Given the description of an element on the screen output the (x, y) to click on. 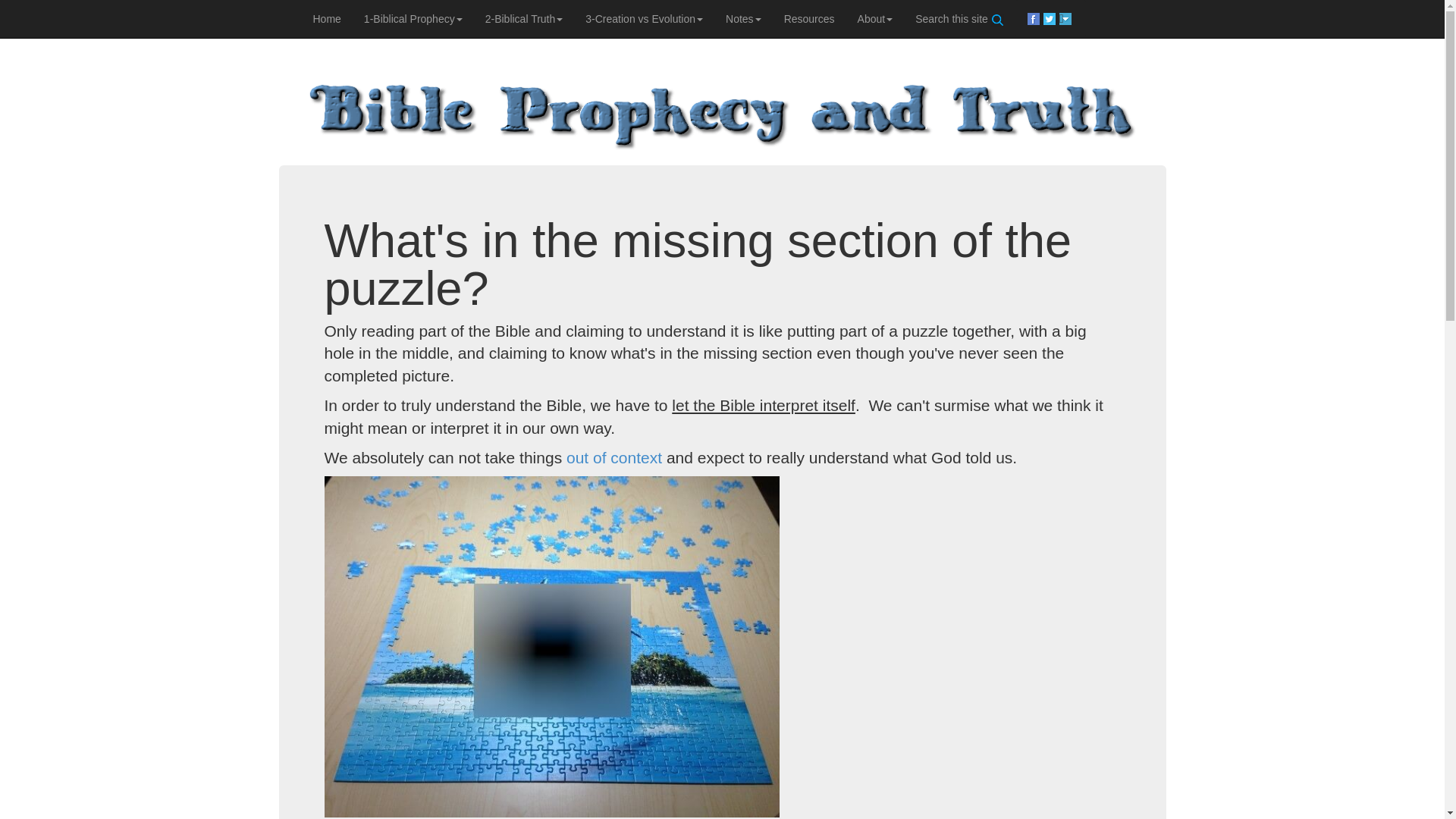
Show more (1066, 18)
1-Biblical Prophecy (413, 18)
Home (326, 18)
2-Biblical Truth (524, 18)
Tweet this (1050, 18)
Share on Facebook (1034, 18)
3-Creation vs Evolution (643, 18)
Notes (743, 18)
